Given the description of an element on the screen output the (x, y) to click on. 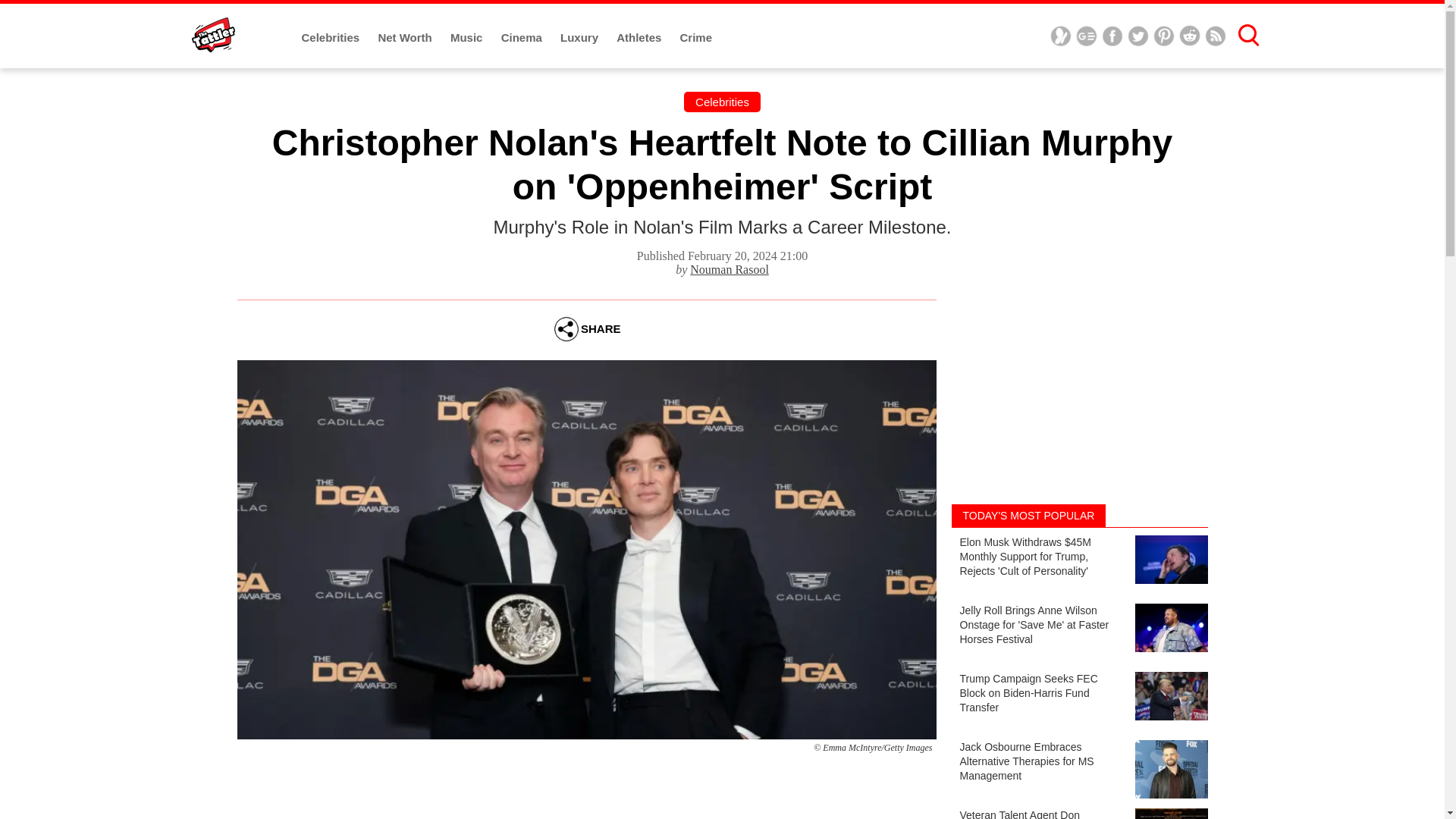
Crime (696, 37)
Net Worth (406, 37)
Celebrities (331, 37)
Athletes (639, 37)
Music (467, 37)
Luxury (580, 37)
Celebrities (722, 101)
Cinema (522, 37)
Nouman Rasool (729, 269)
